Given the description of an element on the screen output the (x, y) to click on. 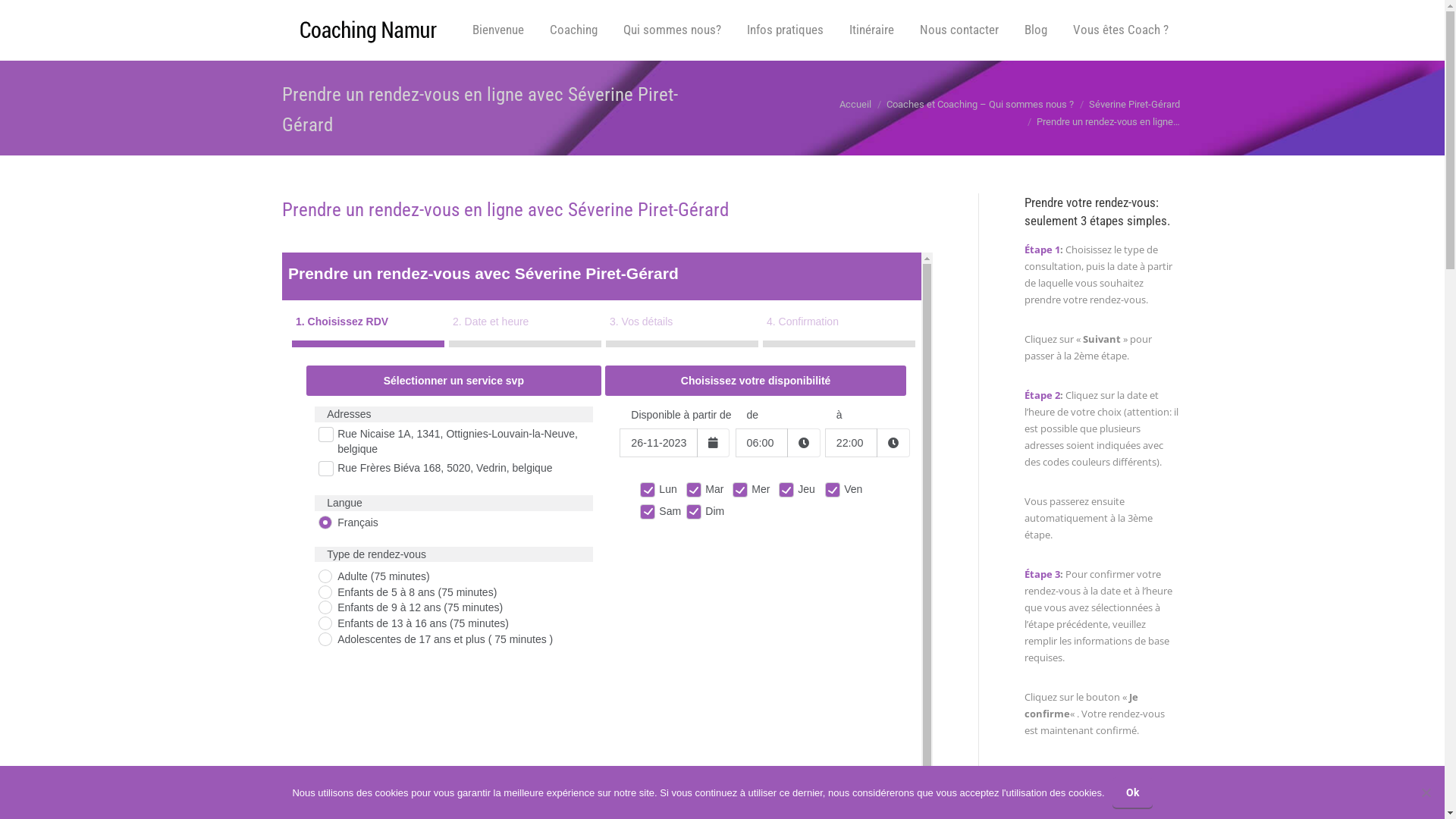
Ok Element type: text (1132, 792)
Bienvenue Element type: text (498, 30)
Coaching Element type: text (573, 30)
Infos pratiques Element type: text (784, 30)
Blog Element type: text (1035, 30)
Qui sommes nous? Element type: text (671, 30)
Nous contacter Element type: text (959, 30)
No Element type: hover (1425, 792)
Accueil Element type: text (854, 103)
